Given the description of an element on the screen output the (x, y) to click on. 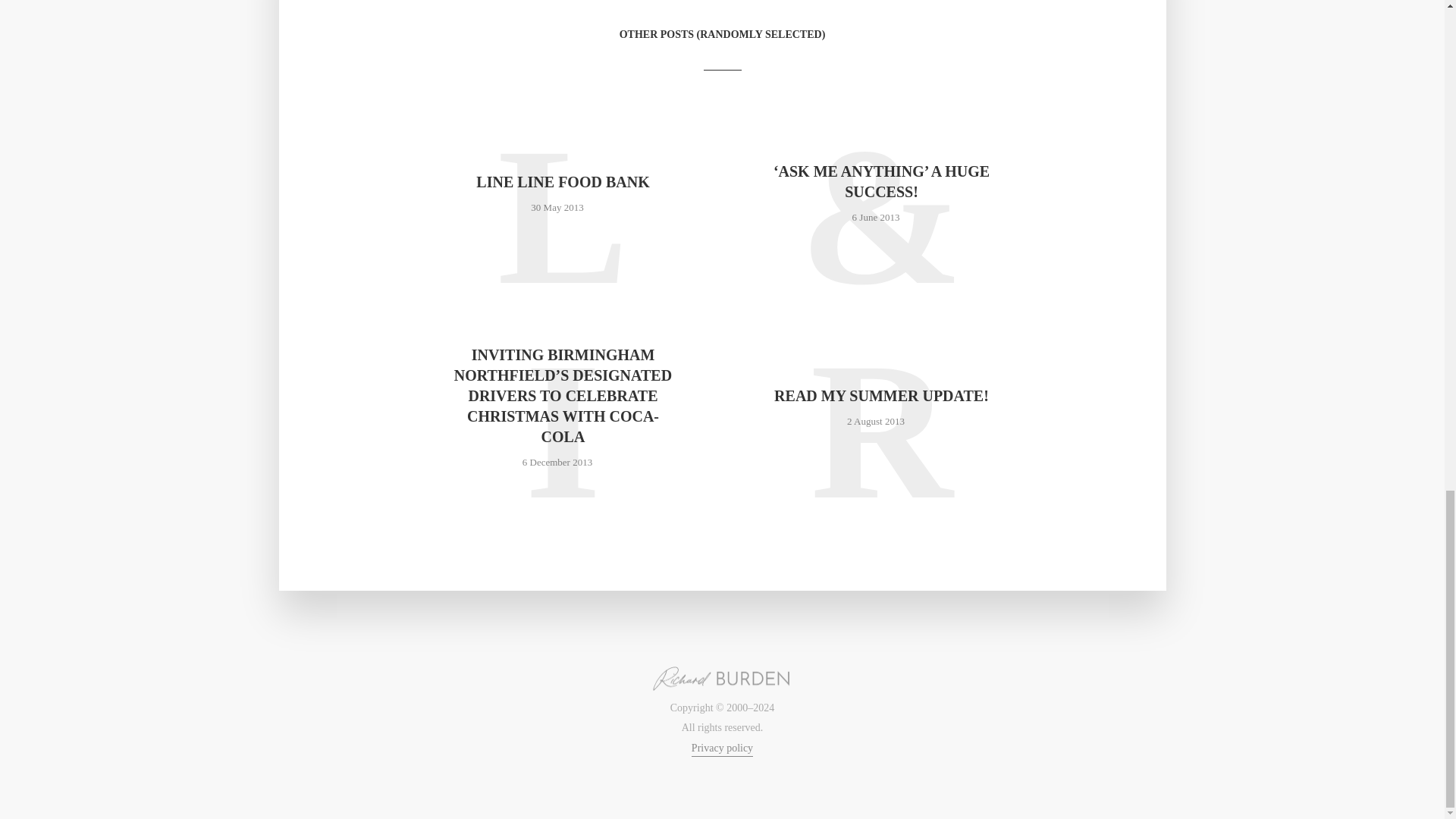
Privacy policy (721, 749)
READ MY SUMMER UPDATE! (881, 395)
LINE LINE FOOD BANK (562, 181)
